Given the description of an element on the screen output the (x, y) to click on. 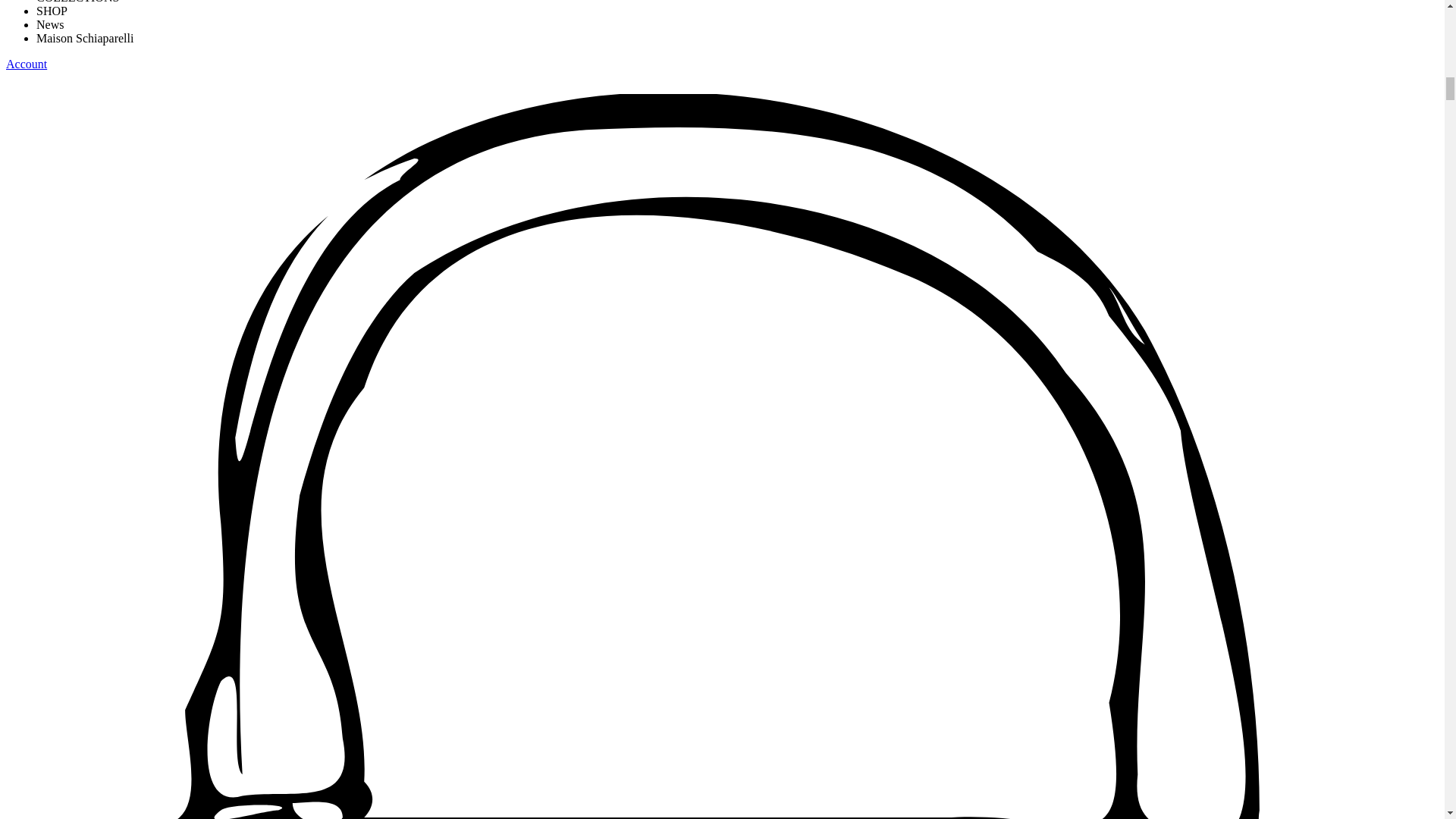
COLLECTIONS (77, 2)
News (50, 24)
SHOP (51, 10)
Maison Schiaparelli (84, 38)
